Given the description of an element on the screen output the (x, y) to click on. 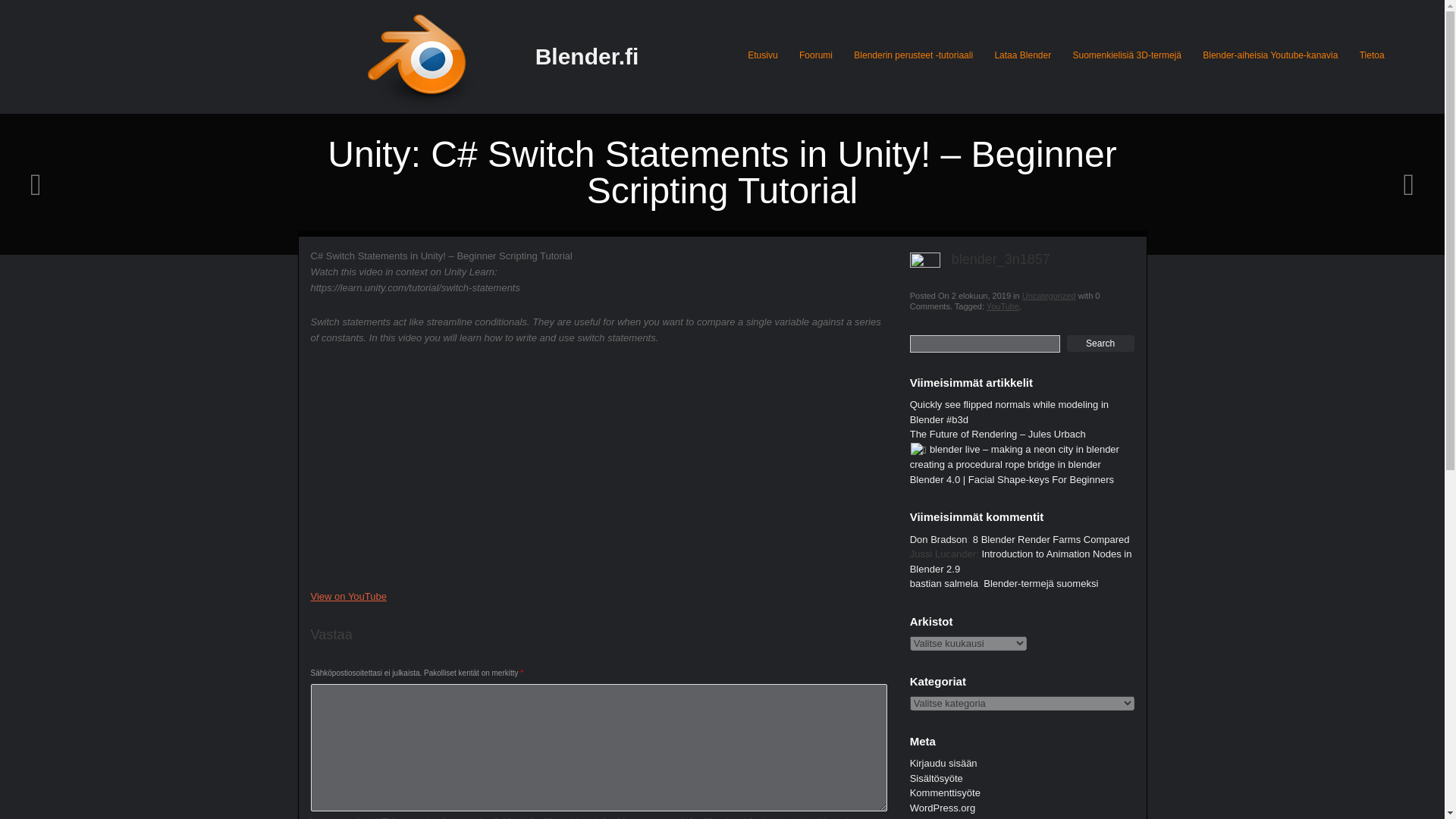
bastian salmela (944, 583)
Blender-aiheisia Youtube-kanavia (1270, 54)
Uncategorized (1048, 295)
Blender.fi (587, 56)
Introduction to Animation Nodes in Blender 2.9 (1021, 560)
Blender.fi (587, 56)
creating a procedural rope bridge in blender (1005, 464)
Search (1100, 343)
Don Bradson (939, 539)
Skip to content (780, 43)
